Given the description of an element on the screen output the (x, y) to click on. 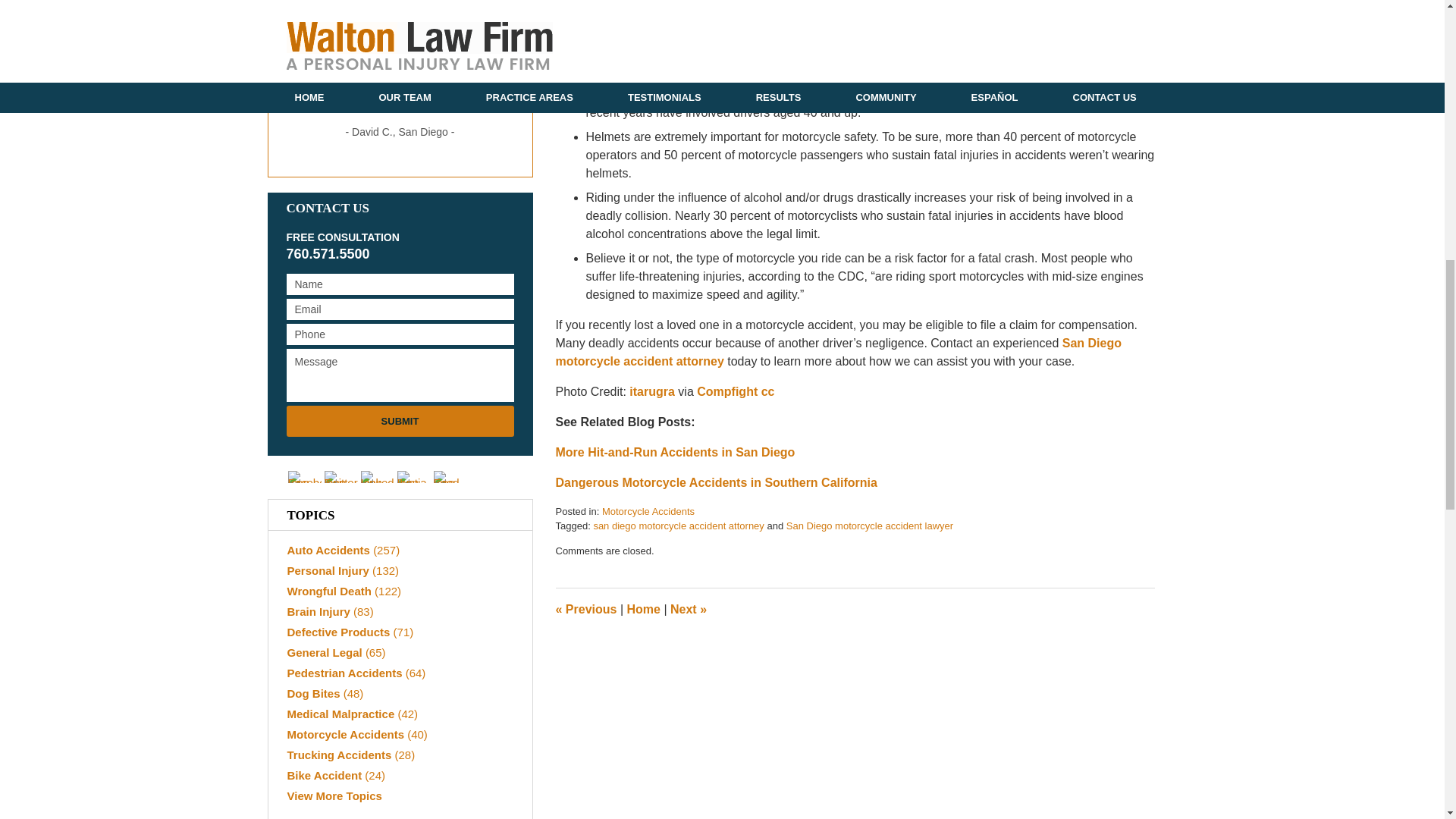
LinkedIn (377, 476)
More Hit-and-Run Accidents in San Diego (674, 451)
Please enter a valid phone number. (399, 333)
san diego motorcycle accident attorney (677, 525)
Motorcycle Accidents (648, 511)
Justia (414, 476)
Feed (450, 476)
Firefighter Suffers Burn Injuries in Roof Collapse (687, 608)
Facebook (304, 476)
